Given the description of an element on the screen output the (x, y) to click on. 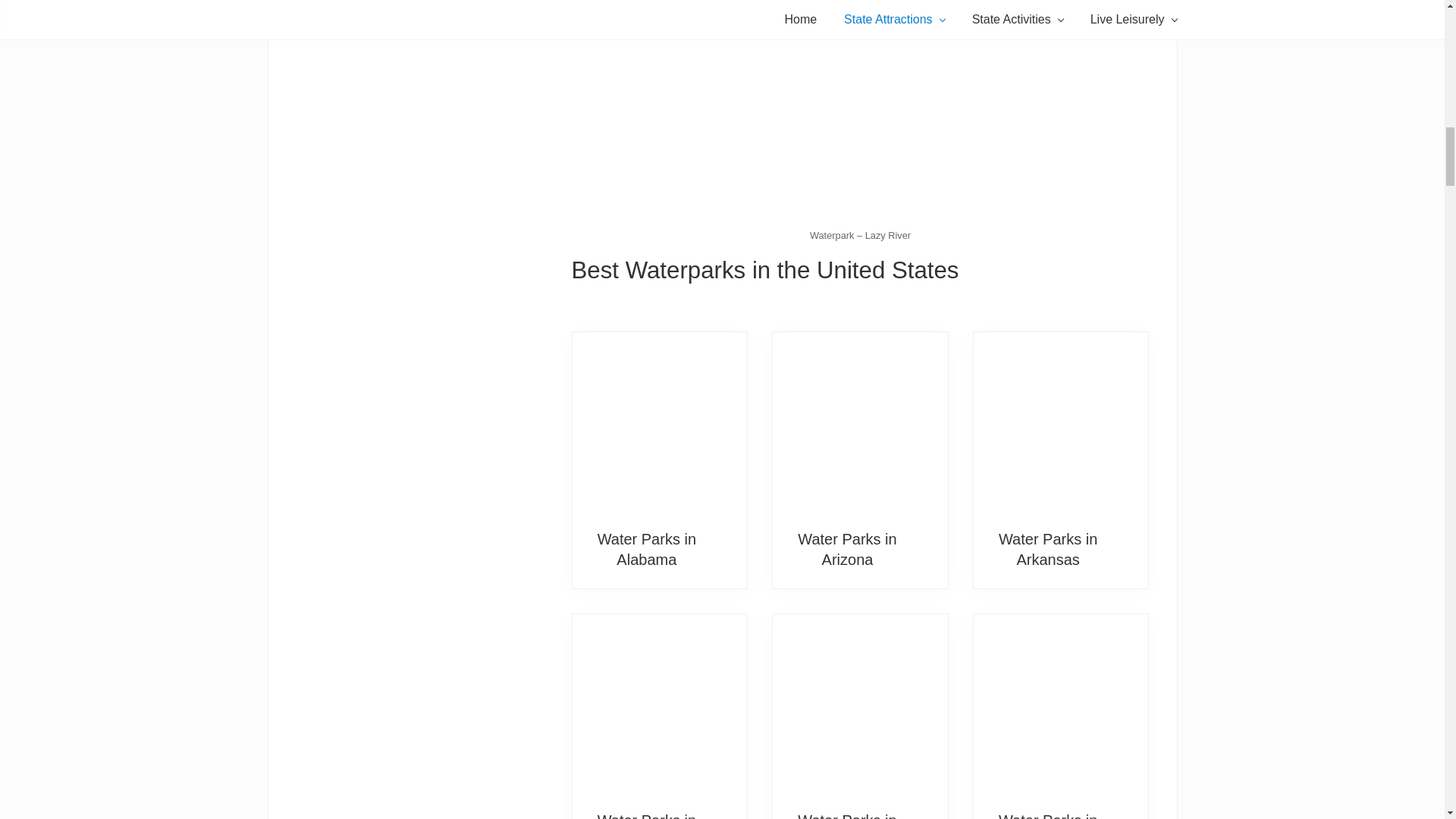
Water Parks in Connecticut (1047, 815)
Water Parks in Colorado (846, 815)
Water Parks in Arizona (846, 549)
Water Parks in Alabama (645, 549)
Water Parks in Arkansas (1061, 423)
Water Parks in Connecticut (1061, 705)
Water Parks in Arizona (860, 423)
Water Parks in Colorado (860, 705)
Water Parks in California (660, 705)
Water Parks in Arkansas (1047, 549)
